Given the description of an element on the screen output the (x, y) to click on. 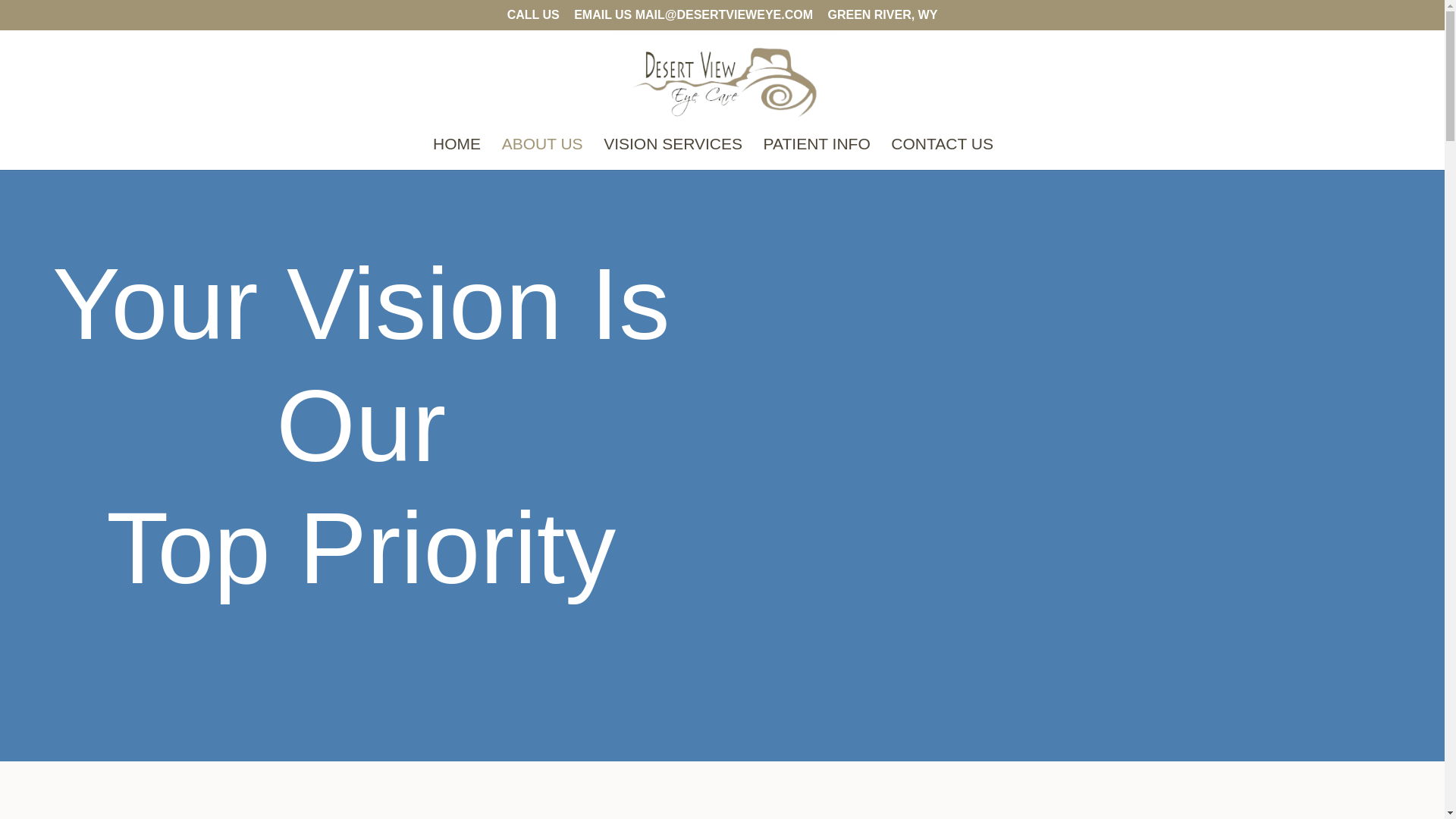
CONTACT US (941, 153)
ABOUT US (542, 153)
HOME (456, 153)
GREEN RIVER, WY (882, 19)
PATIENT INFO (816, 153)
VISION SERVICES (673, 153)
CALL US (532, 19)
